Given the description of an element on the screen output the (x, y) to click on. 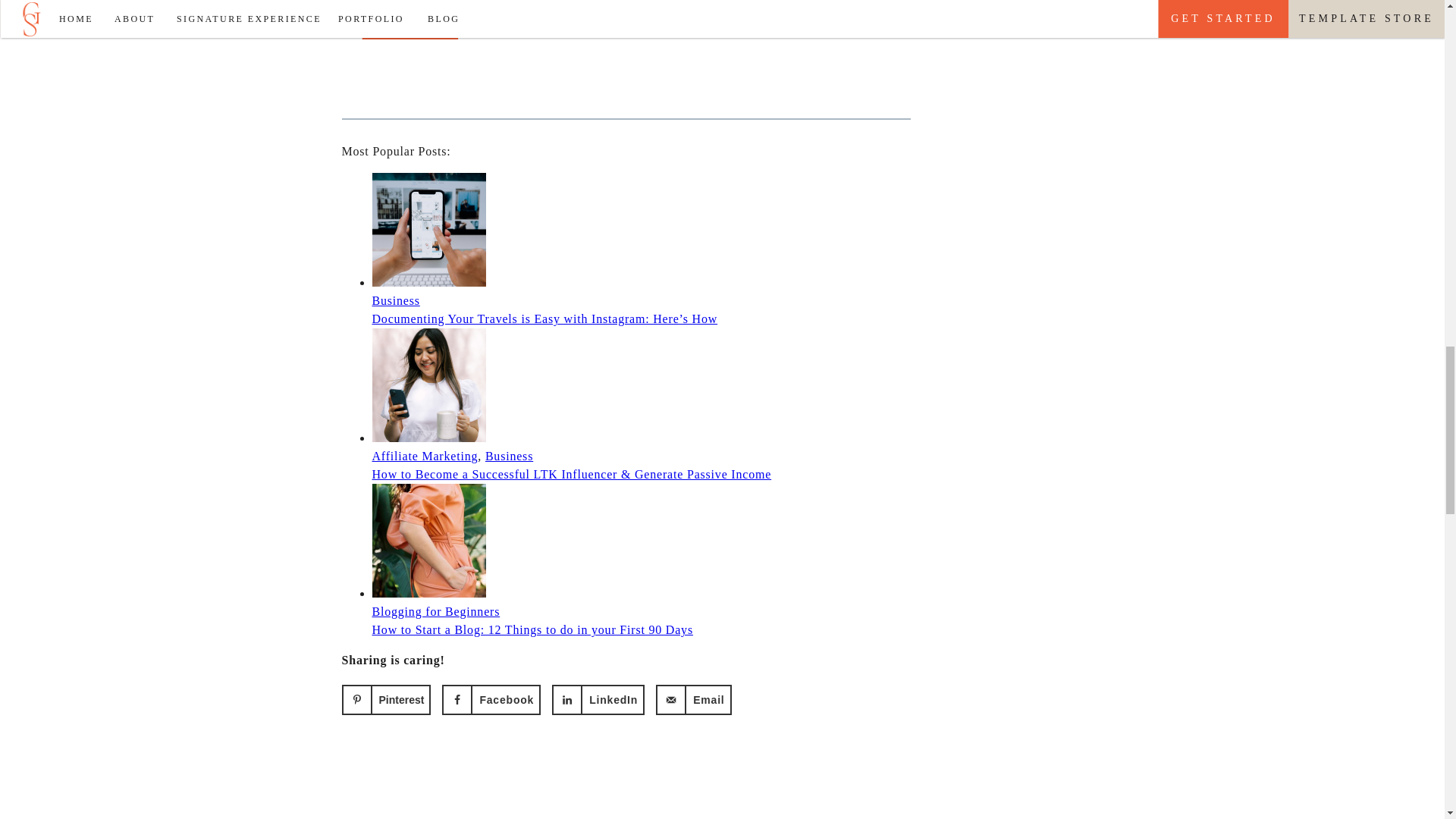
Share on LinkedIn (598, 699)
Send over email (693, 699)
Facebook (491, 699)
LinkedIn (598, 699)
Pinterest (385, 699)
Save to Pinterest (385, 699)
Share on Facebook (491, 699)
Email (693, 699)
